Given the description of an element on the screen output the (x, y) to click on. 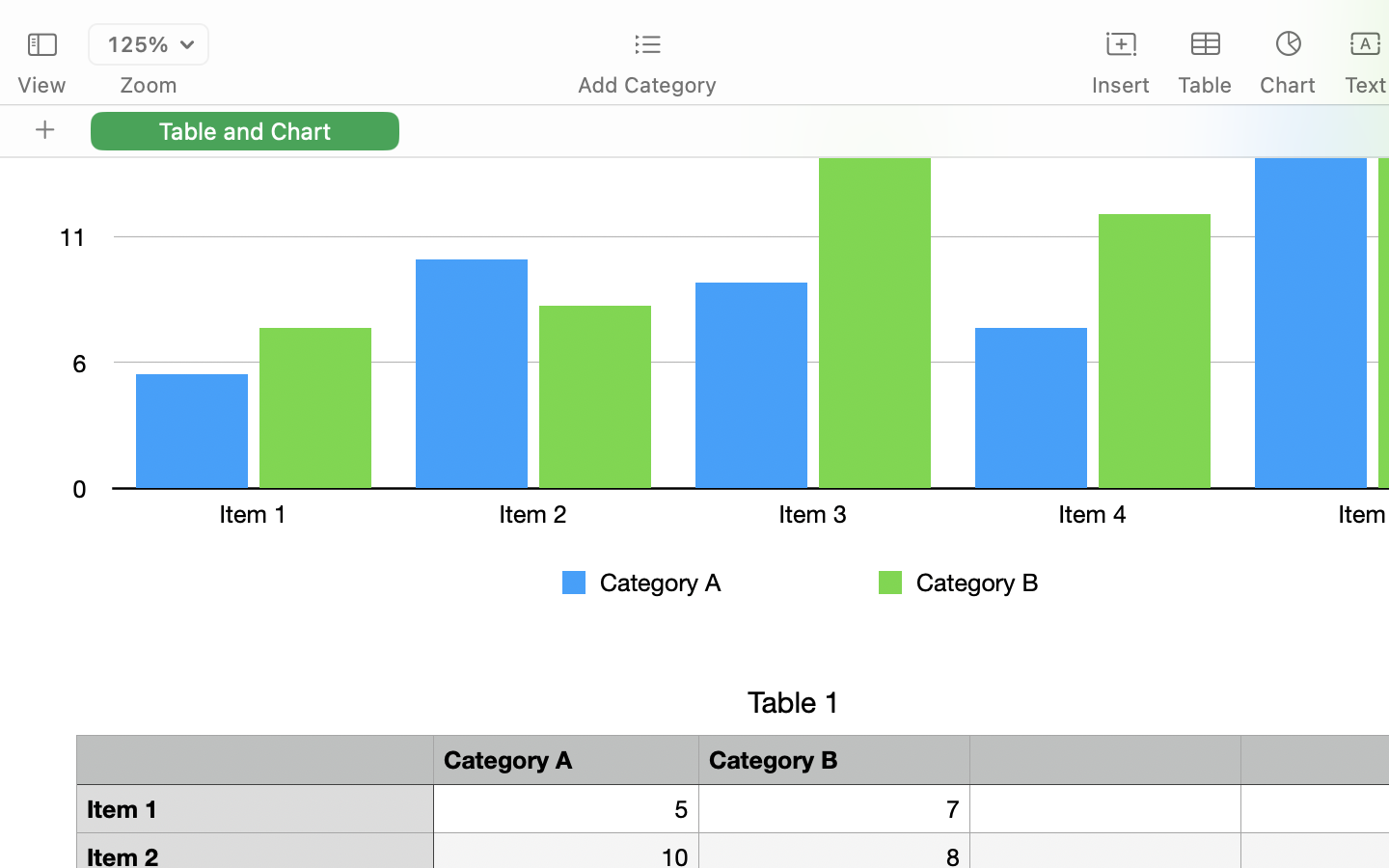
Table and Chart Element type: AXStaticText (244, 129)
Untitled Element type: AXStaticText (1334, 24)
View Element type: AXStaticText (41, 84)
Zoom Element type: AXStaticText (148, 84)
